Given the description of an element on the screen output the (x, y) to click on. 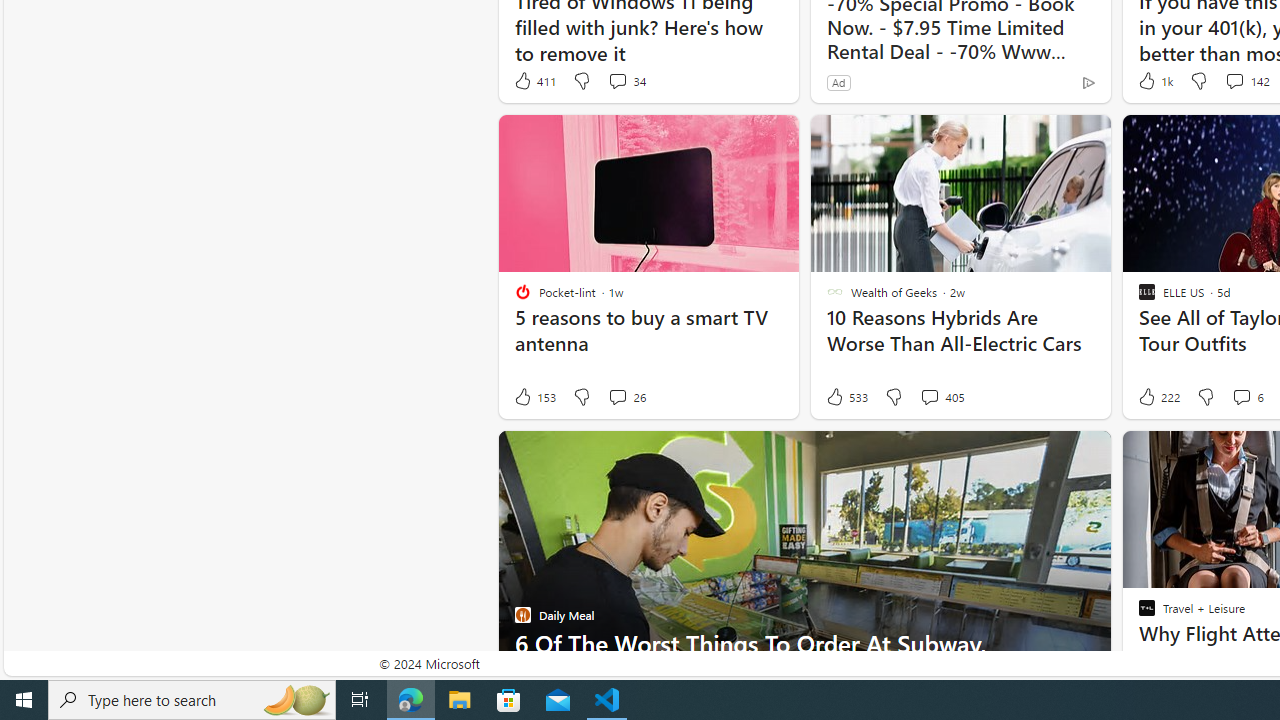
153 Like (534, 397)
View comments 142 Comment (1246, 80)
View comments 26 Comment (626, 397)
View comments 26 Comment (617, 396)
View comments 405 Comment (941, 397)
View comments 6 Comment (1247, 397)
View comments 142 Comment (1234, 80)
1k Like (1154, 80)
533 Like (845, 397)
Hide this story (1147, 454)
View comments 34 Comment (626, 80)
